Given the description of an element on the screen output the (x, y) to click on. 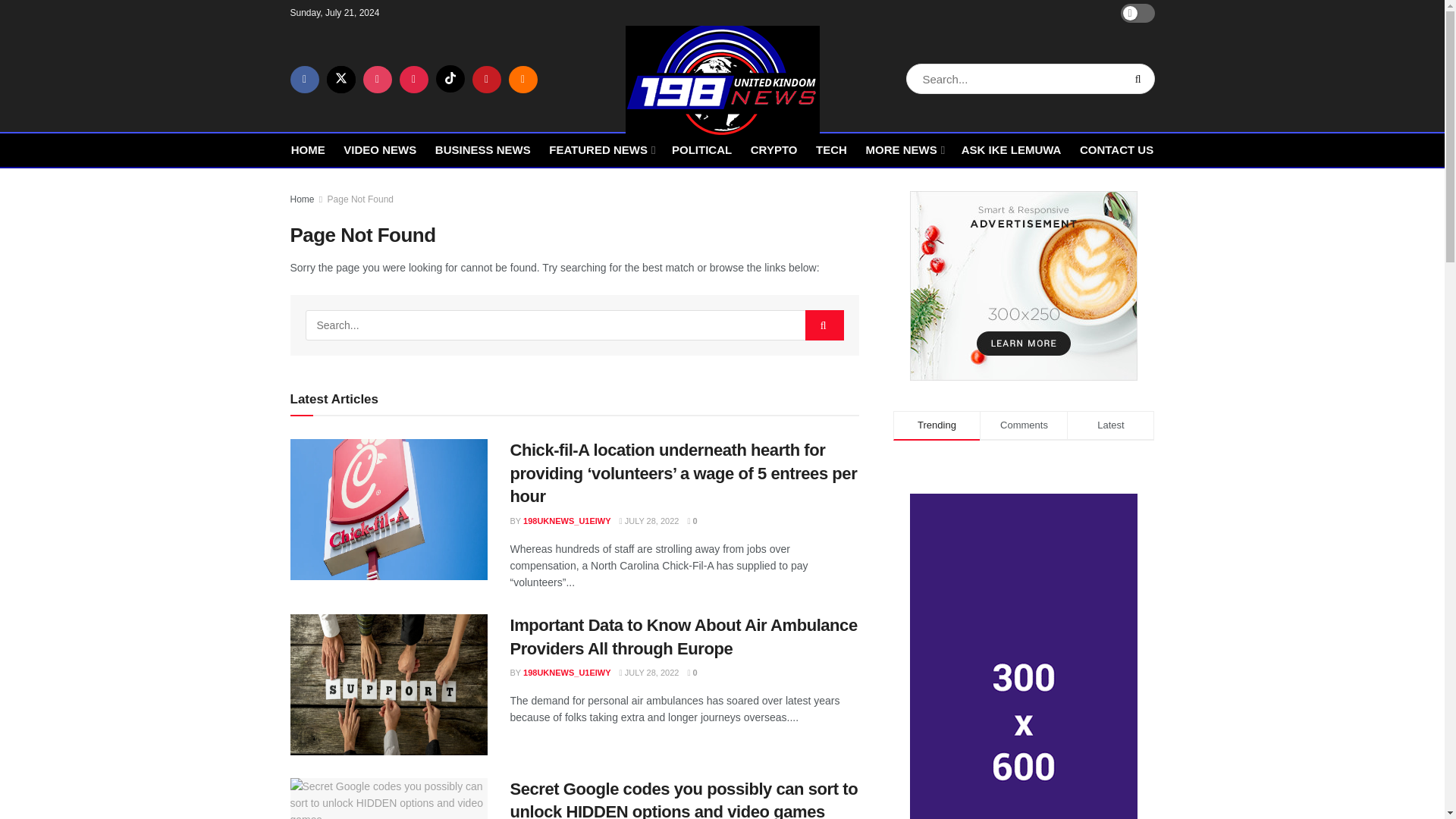
CRYPTO (774, 149)
HOME (307, 149)
CONTACT US (1116, 149)
BUSINESS NEWS (483, 149)
POLITICAL (701, 149)
VIDEO NEWS (379, 149)
TECH (831, 149)
FEATURED NEWS (600, 149)
MORE NEWS (903, 149)
ASK IKE LEMUWA (1010, 149)
